Given the description of an element on the screen output the (x, y) to click on. 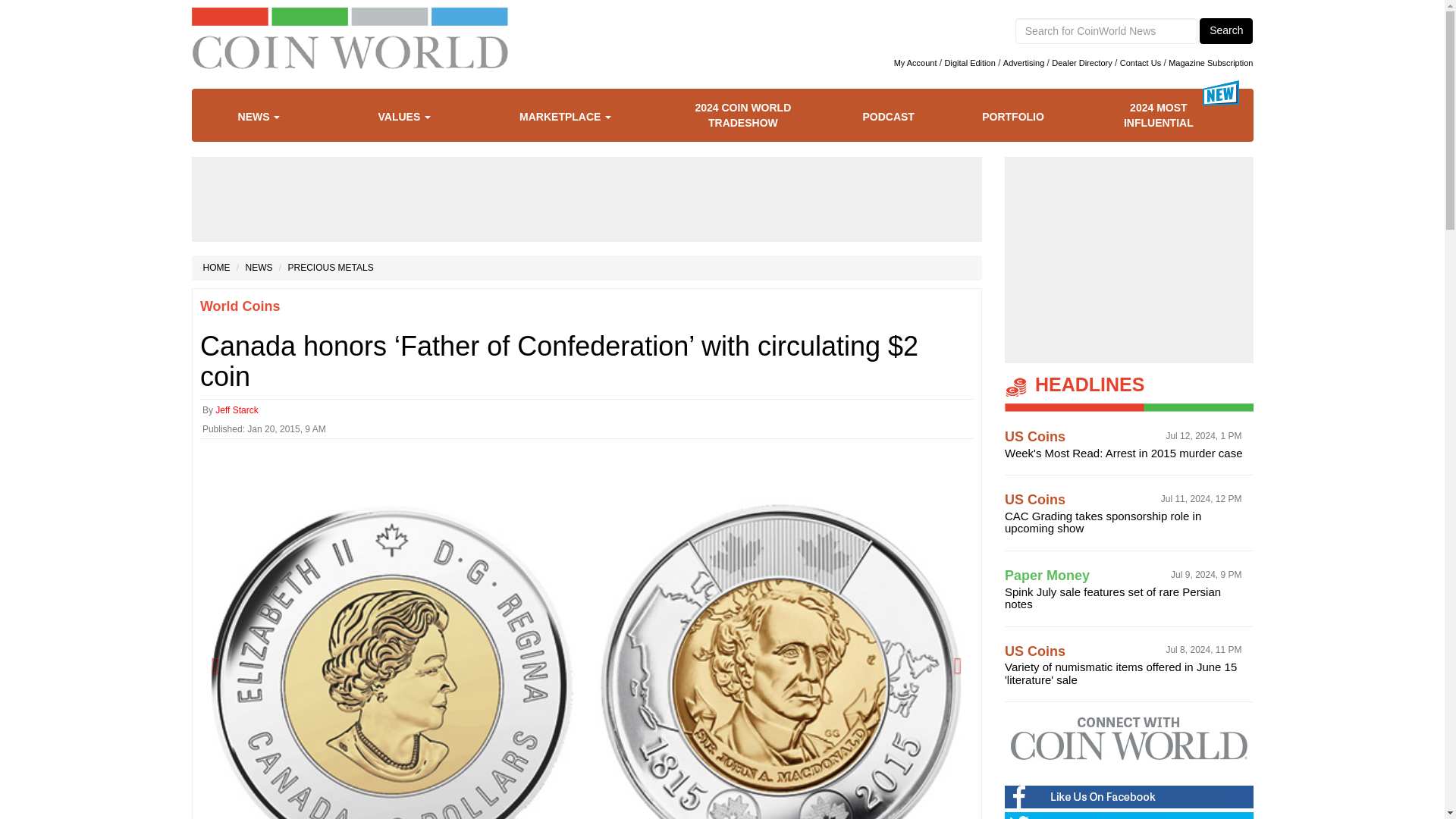
Search input (1105, 31)
VALUES (416, 116)
Contact Us (1139, 62)
My Account (915, 62)
NEWS (270, 116)
Advertising (1023, 62)
3rd party ad content (1128, 259)
Magazine Subscription (1210, 62)
Search (1225, 31)
3rd party ad content (587, 199)
Dealer Directory (1081, 62)
logo-desktop (348, 53)
nav-colorbars (348, 16)
Digital Edition (969, 62)
